Given the description of an element on the screen output the (x, y) to click on. 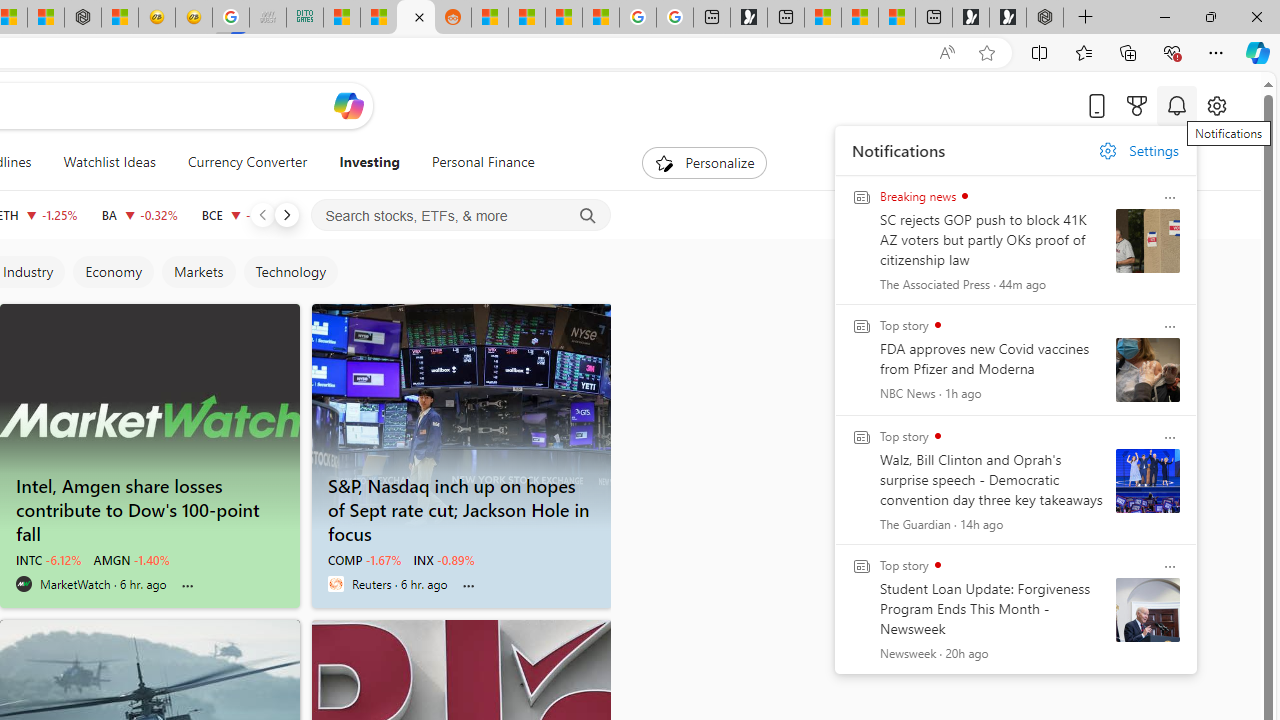
BA THE BOEING COMPANY decrease 172.87 -0.56 -0.32% (139, 214)
These 3 Stocks Pay You More Than 5% to Own Them (897, 17)
Watchlist Ideas (109, 162)
Nordace - Nordace Siena Is Not An Ordinary Backpack (1044, 17)
Investing (369, 162)
Markets (198, 272)
Currency Converter (247, 162)
